Given the description of an element on the screen output the (x, y) to click on. 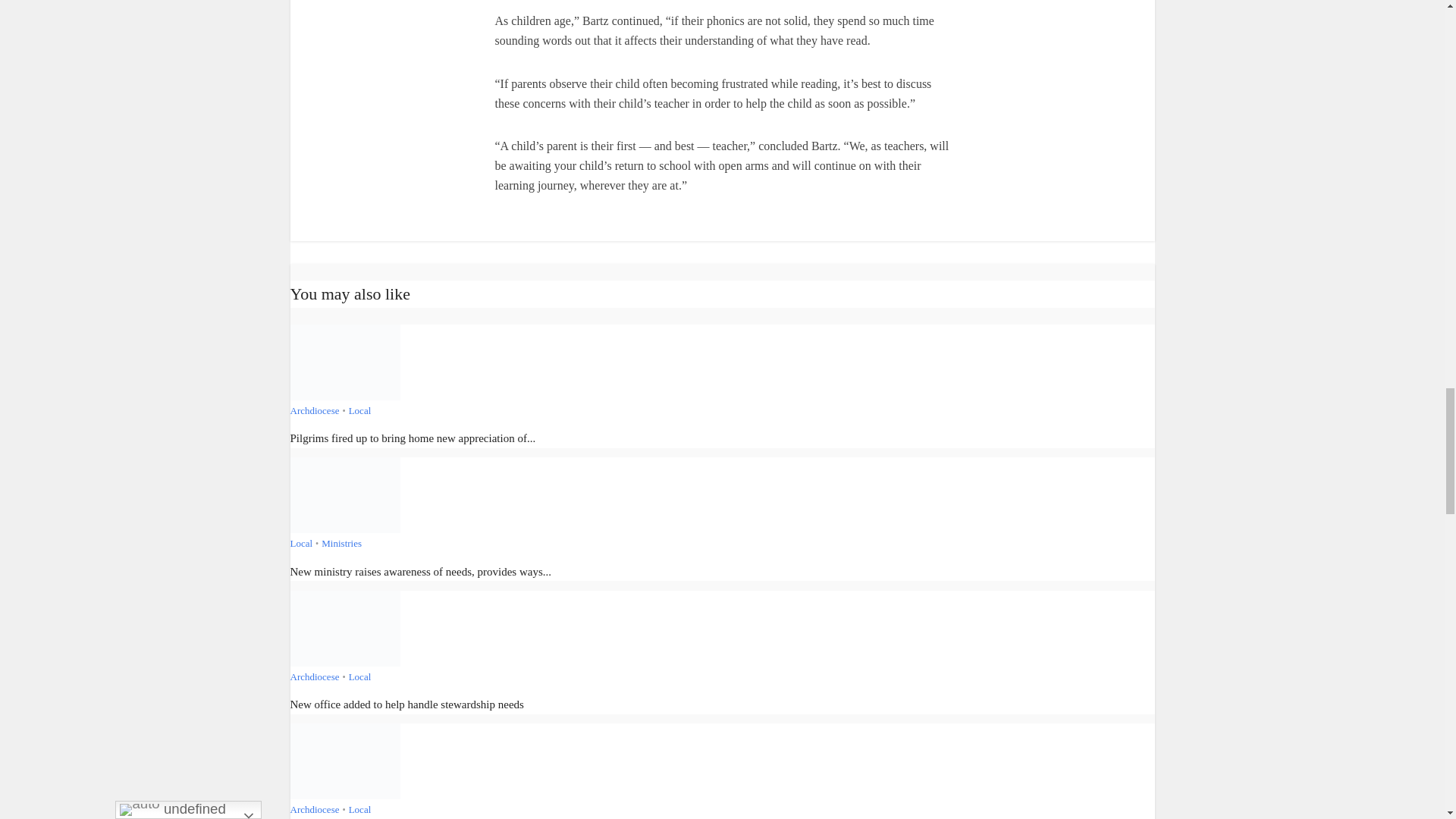
New office added to help handle stewardship needs (405, 704)
New office added to help handle stewardship needs (343, 626)
Relationships at heart of success of building projects (343, 759)
